Given the description of an element on the screen output the (x, y) to click on. 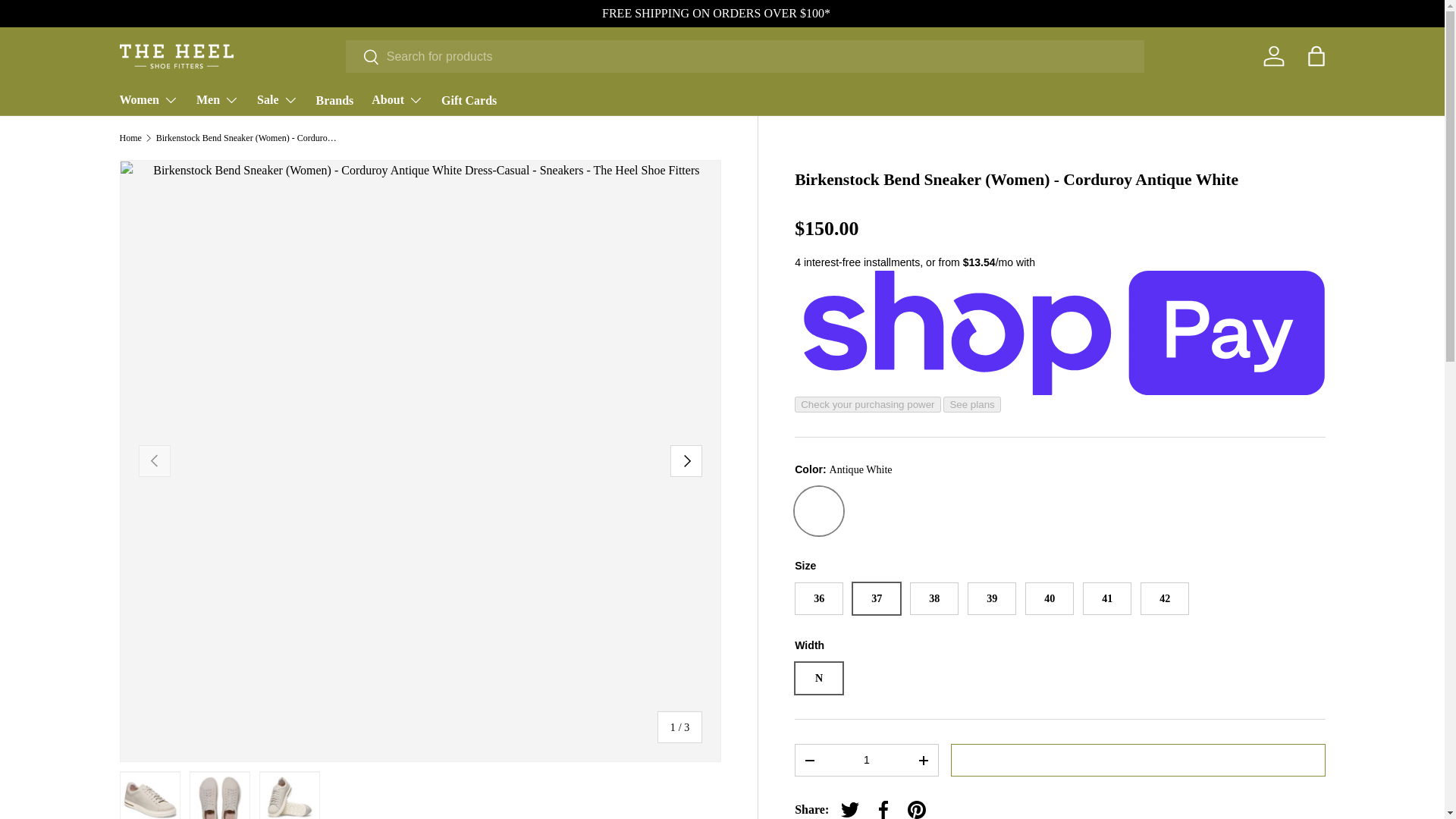
Shipping Policy (715, 12)
Men (217, 100)
Women (148, 100)
1 (866, 759)
Log in (1273, 55)
Bag (1316, 55)
SKIP TO CONTENT (68, 21)
